Given the description of an element on the screen output the (x, y) to click on. 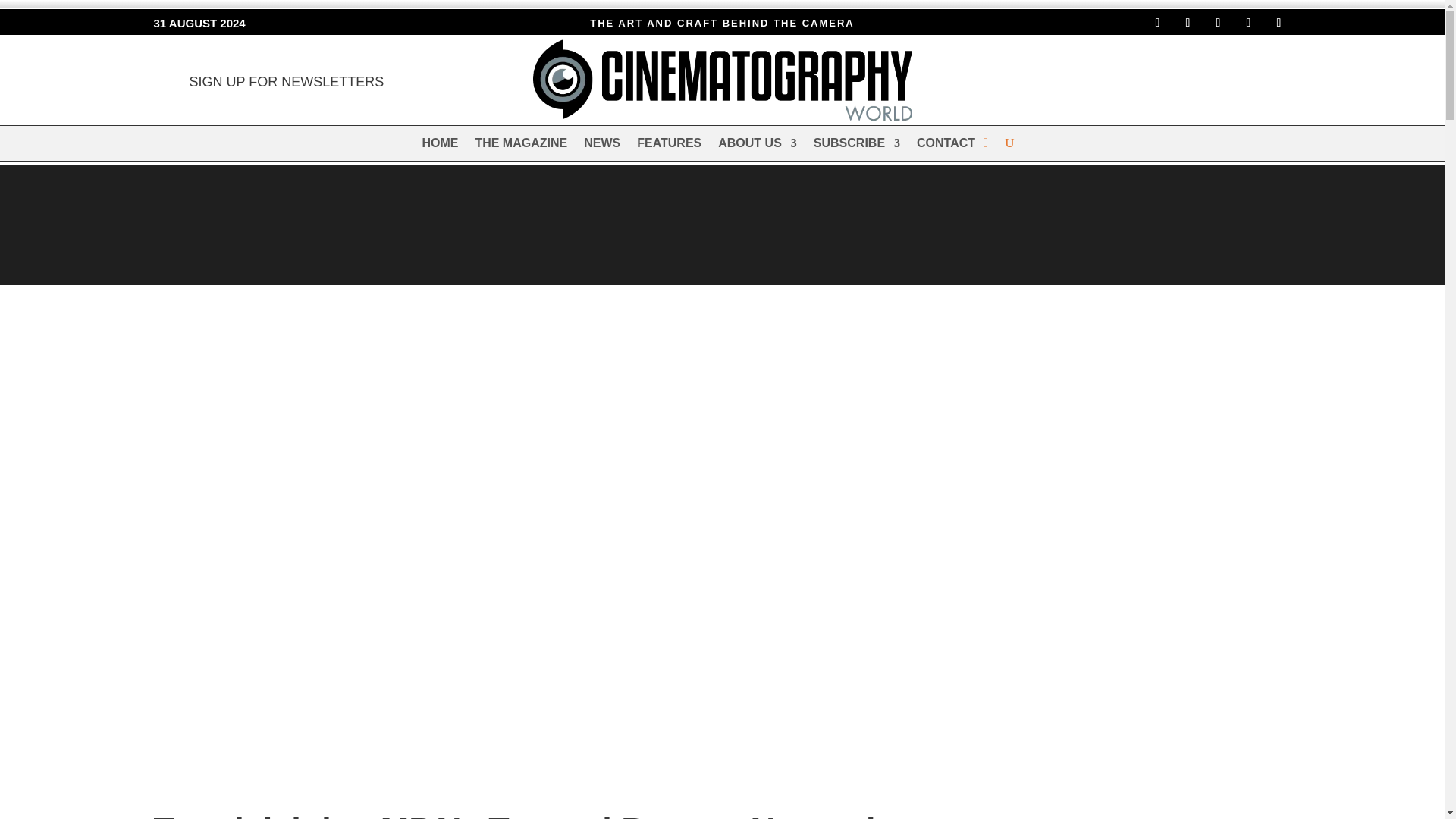
Follow on LinkedIn (1248, 22)
THE MAGAZINE (520, 146)
Follow on X (1217, 22)
HOME (440, 146)
Follow on Instagram (1186, 22)
SUBSCRIBE (856, 146)
NEWS (601, 146)
Follow on Youtube (1278, 22)
CW-masthead (721, 80)
ABOUT US (756, 146)
